Given the description of an element on the screen output the (x, y) to click on. 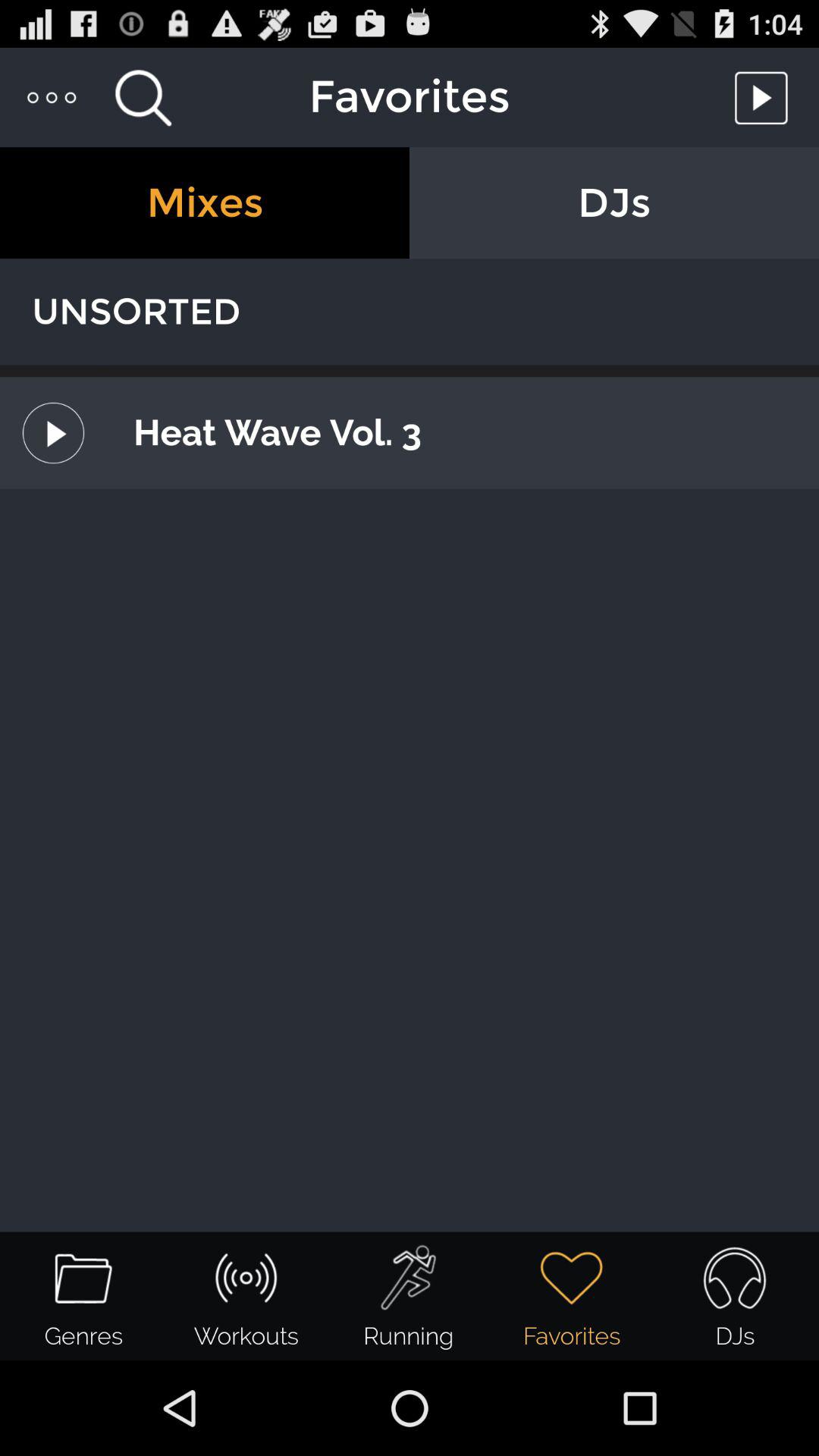
click the item above unsorted icon (204, 202)
